Given the description of an element on the screen output the (x, y) to click on. 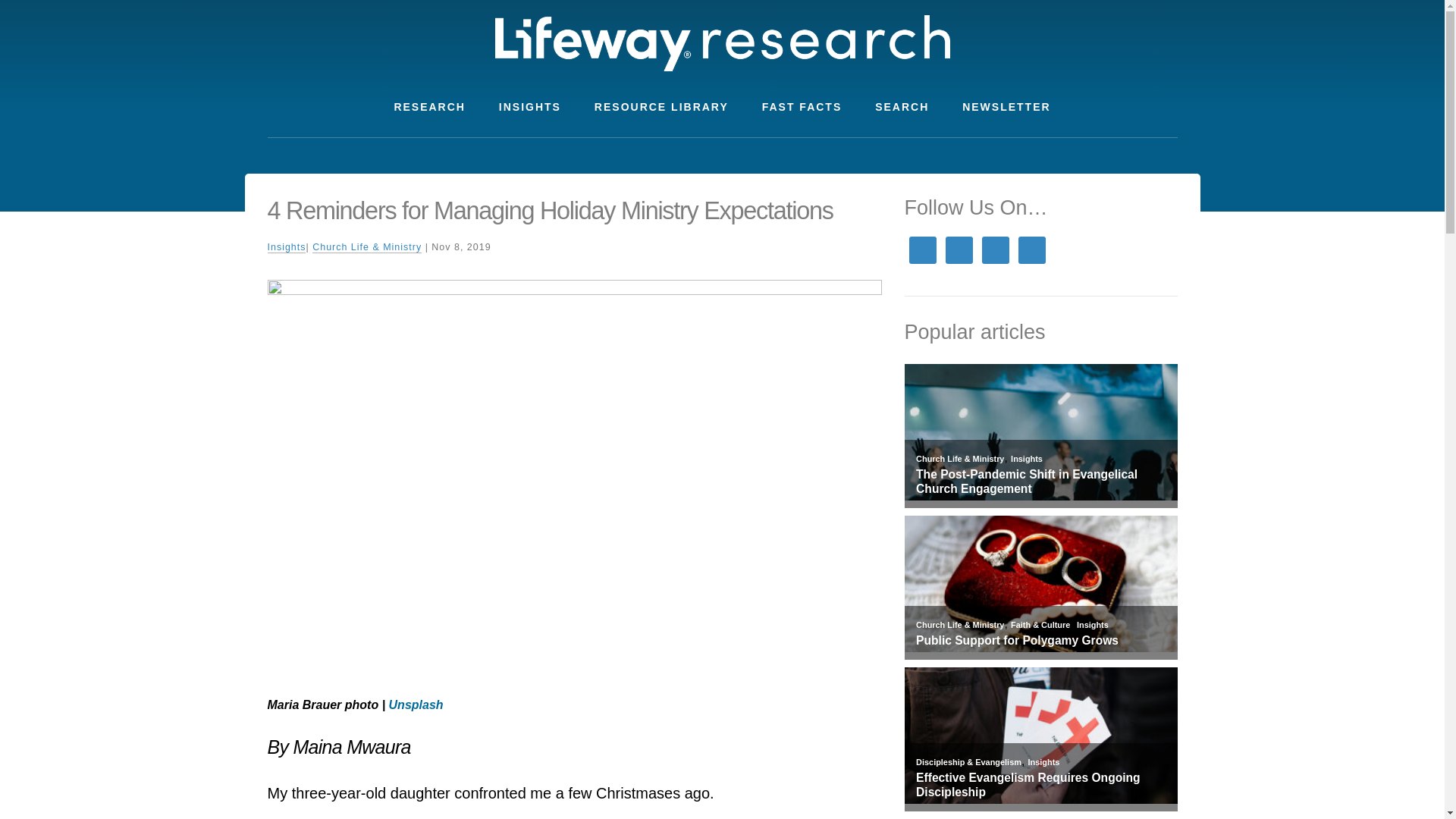
RESOURCE LIBRARY (661, 106)
INSIGHTS (529, 106)
RESEARCH (429, 106)
SEARCH (901, 106)
The Post-Pandemic Shift in Evangelical Church Engagement (1040, 481)
Insights (1026, 458)
FAST FACTS (801, 106)
NEWSLETTER (1006, 106)
Unsplash (416, 704)
Insights (1092, 624)
